Given the description of an element on the screen output the (x, y) to click on. 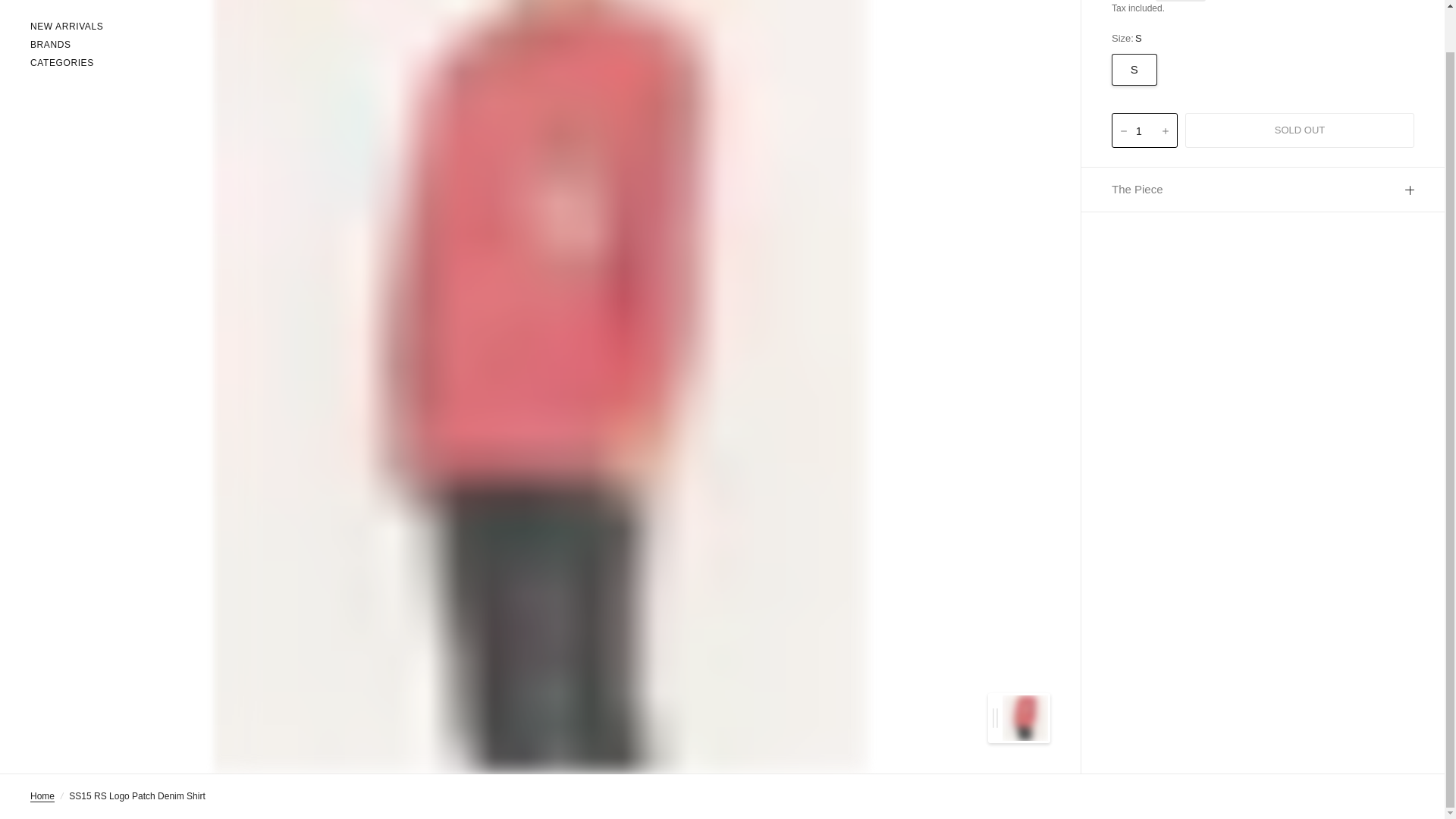
CATEGORIES (66, 63)
BRANDS (66, 44)
NEW ARRIVALS (66, 26)
